Given the description of an element on the screen output the (x, y) to click on. 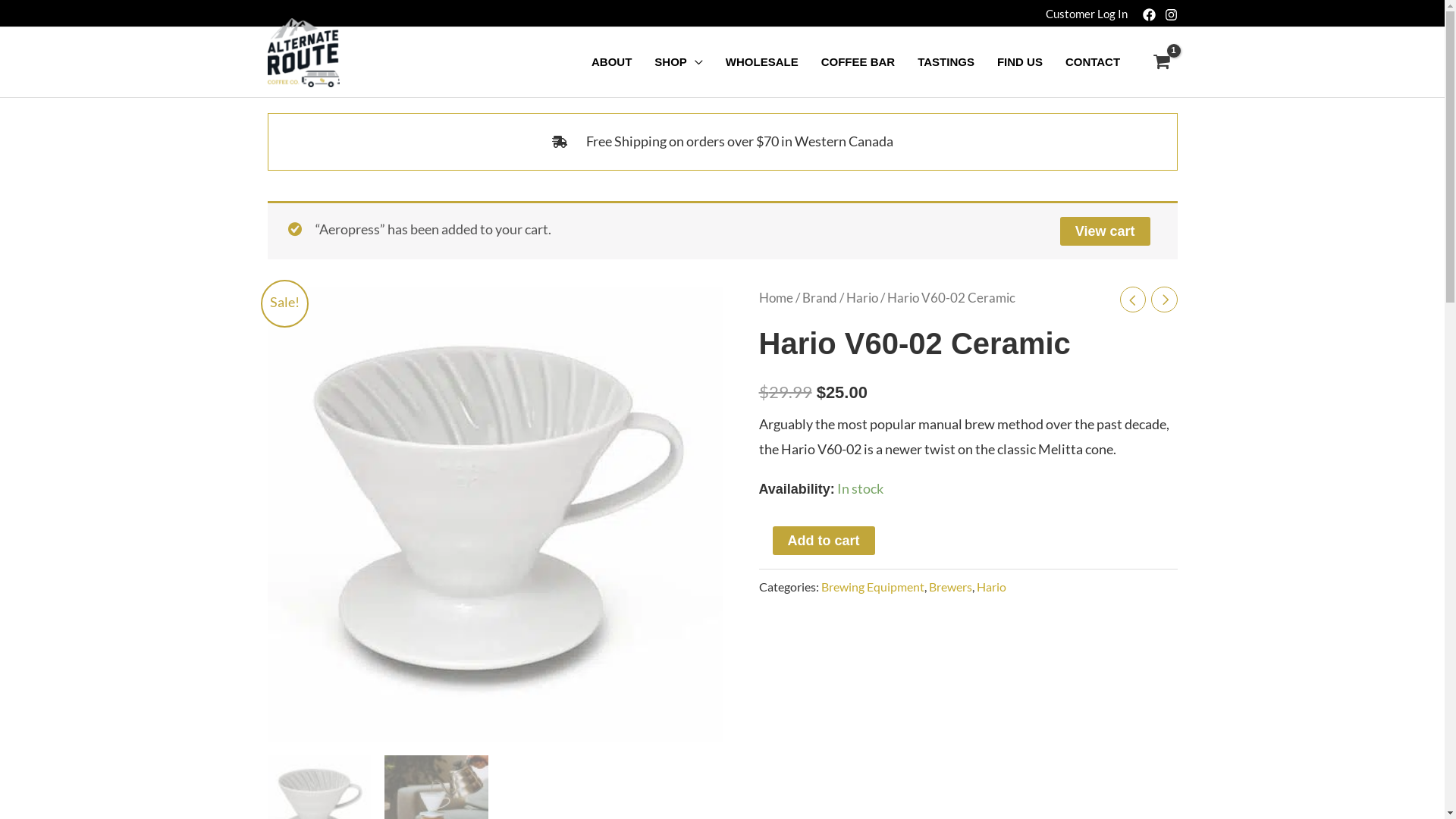
Brewers Element type: text (949, 586)
Brand Element type: text (819, 297)
FIND US Element type: text (1019, 61)
TASTINGS Element type: text (945, 61)
WHOLESALE Element type: text (761, 61)
View cart Element type: text (1105, 230)
Home Element type: text (775, 297)
COFFEE BAR Element type: text (857, 61)
Hario Element type: text (991, 586)
ABOUT Element type: text (611, 61)
Hario Element type: text (862, 297)
Customer Log In Element type: text (1085, 12)
Brewing Equipment Element type: text (871, 586)
CONTACT Element type: text (1092, 61)
Dcf19f 1546932fe59b4e2e852c637a04425ed4 Mv2 Element type: hover (493, 513)
Add to cart Element type: text (822, 540)
SHOP Element type: text (678, 61)
